Given the description of an element on the screen output the (x, y) to click on. 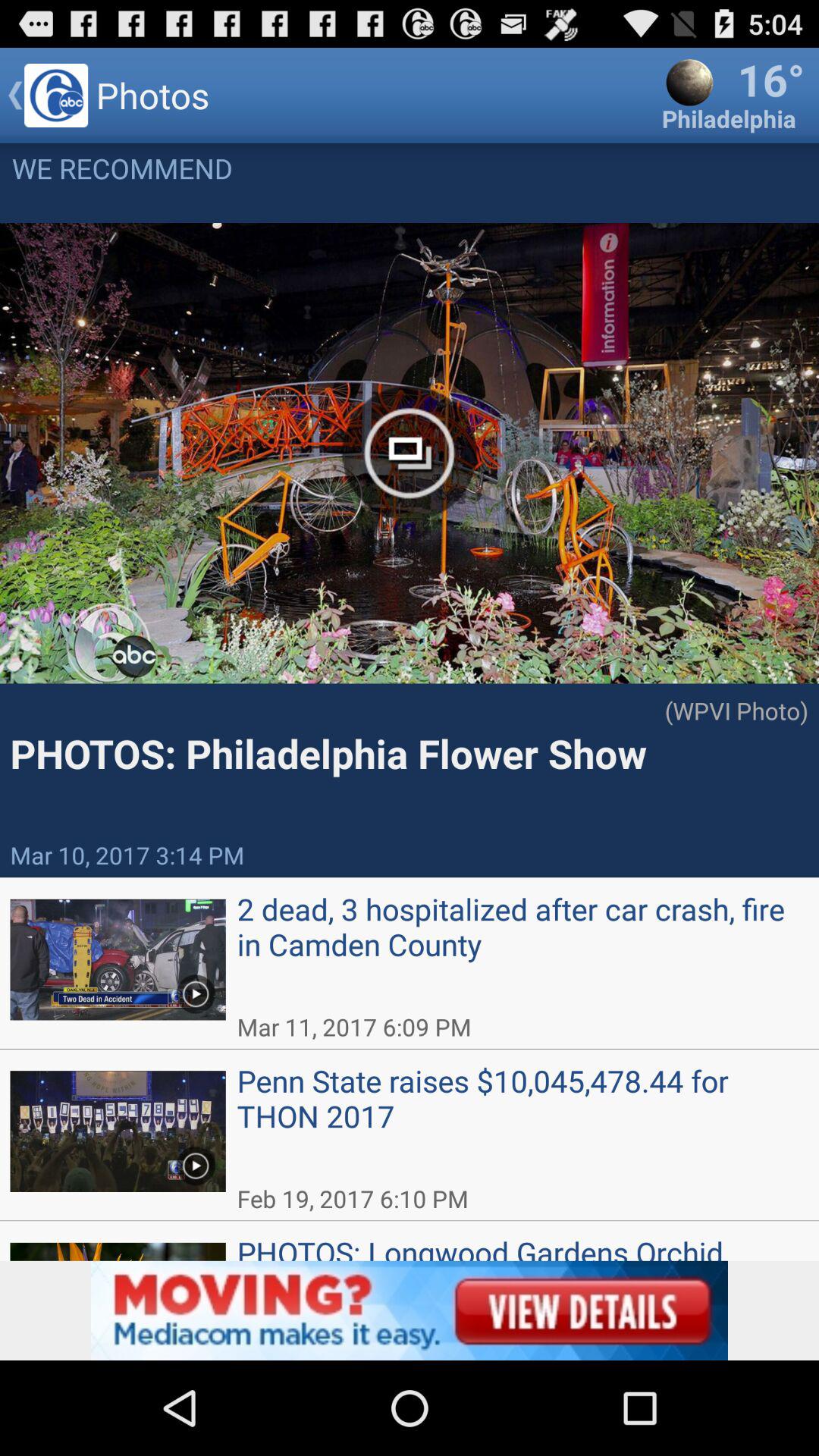
add banner (409, 1310)
